Given the description of an element on the screen output the (x, y) to click on. 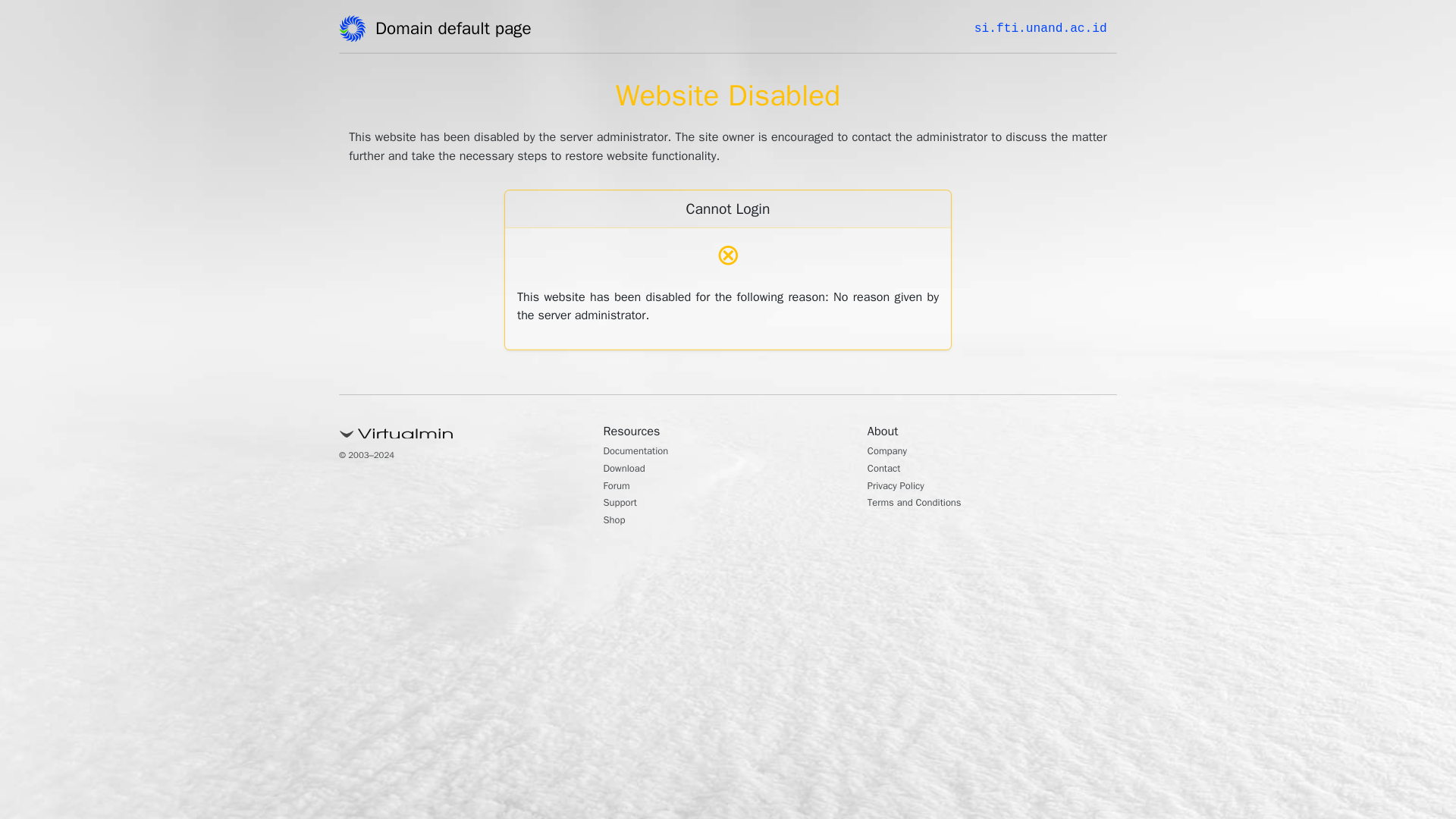
Support (624, 503)
Company (891, 452)
Forum (620, 487)
Shop (617, 521)
Privacy Policy (902, 487)
Documentation (644, 452)
Terms and Conditions (925, 503)
Download (629, 469)
Contact (887, 469)
Domain default page (457, 31)
